Given the description of an element on the screen output the (x, y) to click on. 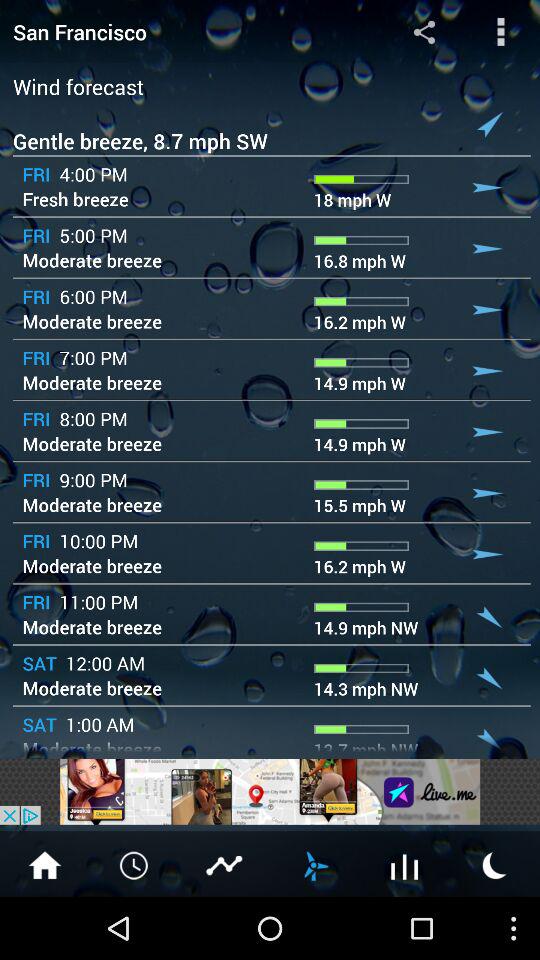
night mode (495, 864)
